Given the description of an element on the screen output the (x, y) to click on. 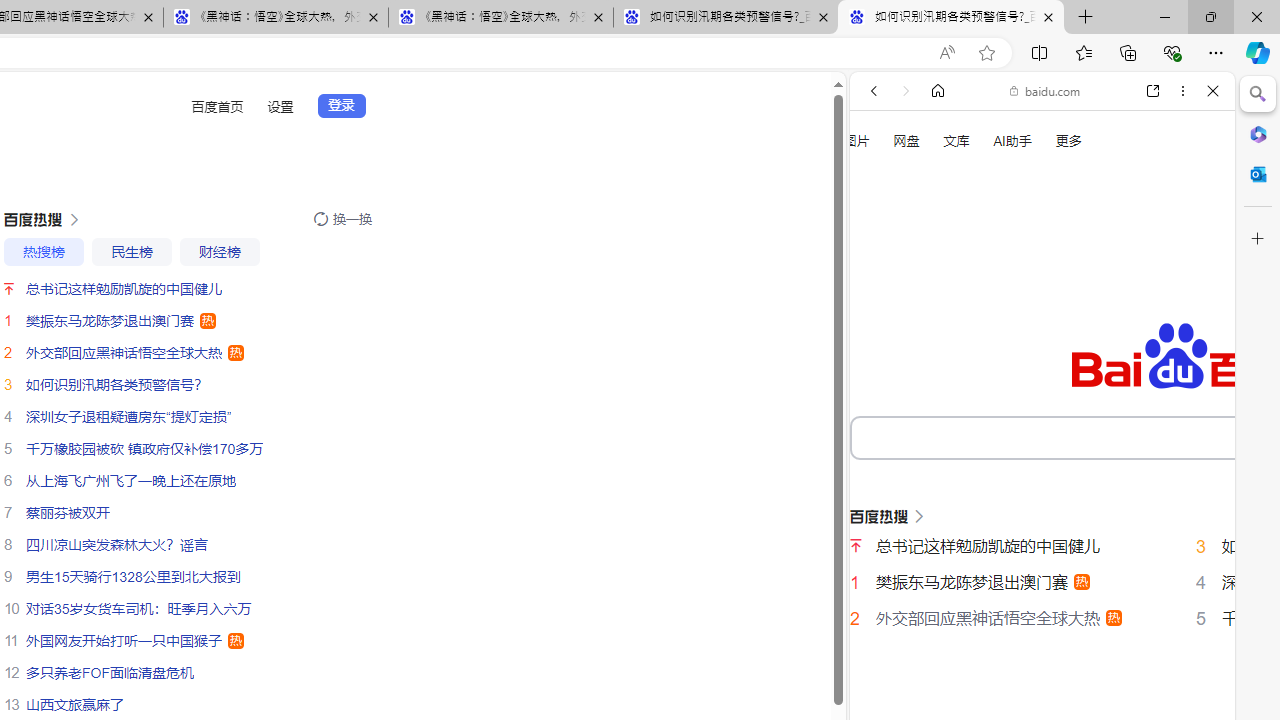
English (Uk) (1042, 622)
Open link in new tab (1153, 91)
SEARCH TOOLS (1093, 339)
baidu.com (1045, 90)
